Given the description of an element on the screen output the (x, y) to click on. 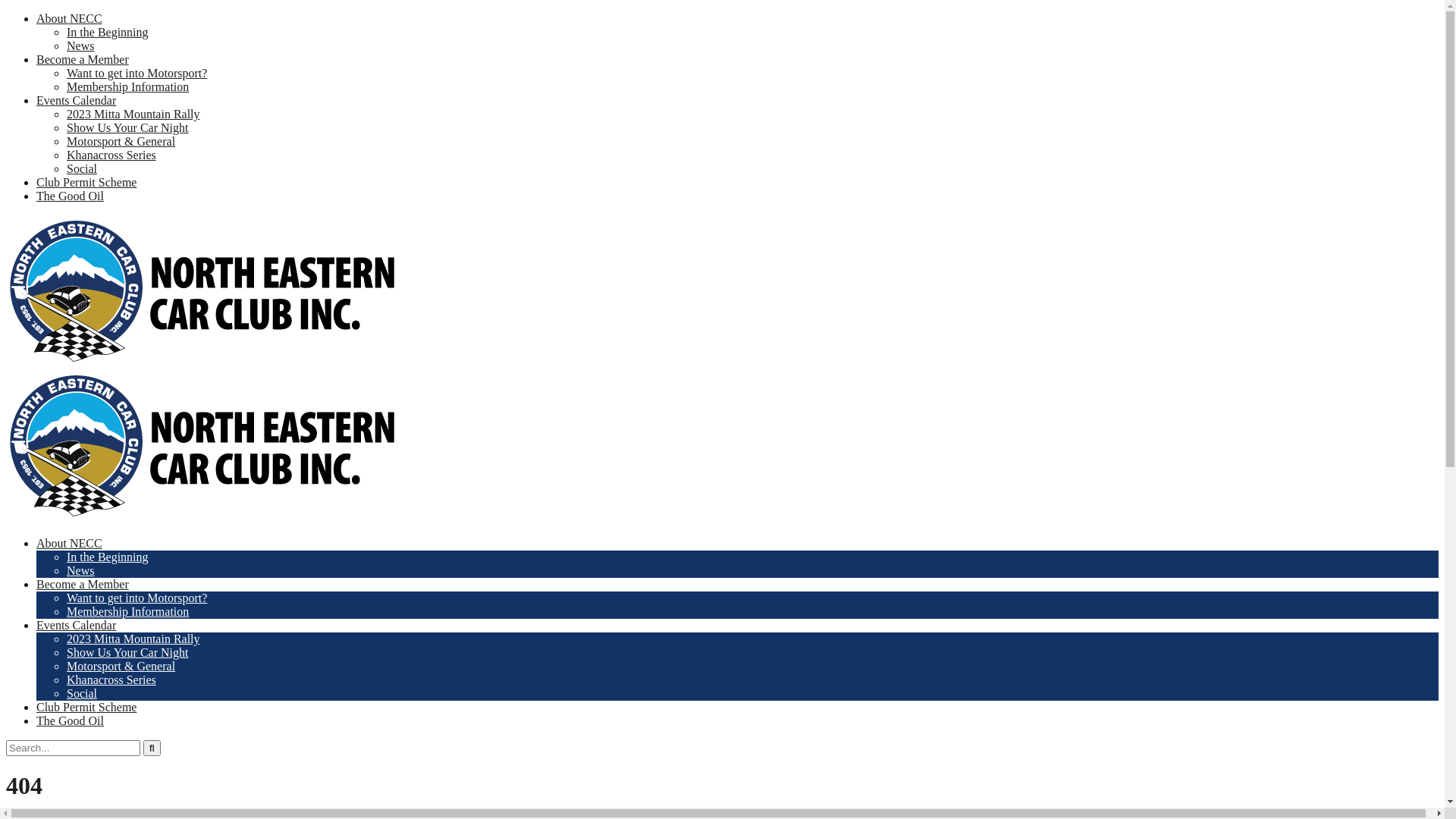
Become a Member Element type: text (82, 583)
Want to get into Motorsport? Element type: text (136, 72)
Khanacross Series Element type: text (111, 679)
Become a Member Element type: text (82, 59)
Events Calendar Element type: text (76, 100)
Khanacross Series Element type: text (111, 154)
2023 Mitta Mountain Rally Element type: text (133, 638)
The Good Oil Element type: text (69, 195)
The Good Oil Element type: text (69, 720)
Social Element type: text (81, 168)
Social Element type: text (81, 693)
Club Permit Scheme Element type: text (86, 706)
Motorsport & General Element type: text (120, 140)
Membership Information Element type: text (127, 611)
Show Us Your Car Night Element type: text (127, 127)
Want to get into Motorsport? Element type: text (136, 597)
About NECC Element type: text (69, 542)
Motorsport & General Element type: text (120, 665)
Club Permit Scheme Element type: text (86, 181)
News Element type: text (80, 45)
News Element type: text (80, 570)
Show Us Your Car Night Element type: text (127, 652)
2023 Mitta Mountain Rally Element type: text (133, 113)
In the Beginning Element type: text (107, 556)
About NECC Element type: text (69, 18)
Membership Information Element type: text (127, 86)
Events Calendar Element type: text (76, 624)
In the Beginning Element type: text (107, 31)
